Given the description of an element on the screen output the (x, y) to click on. 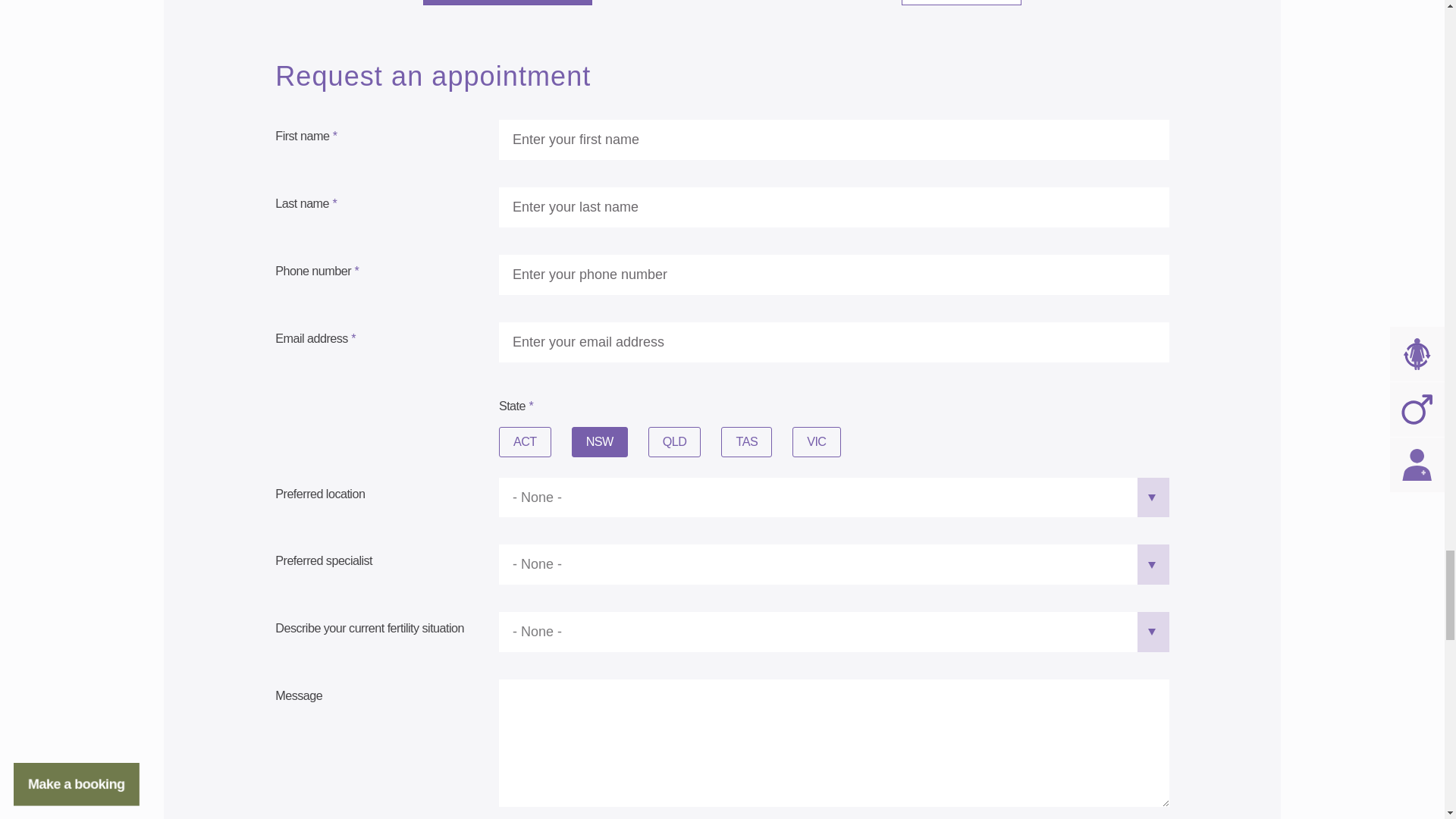
142 (732, 442)
141 (659, 442)
139 (583, 442)
140 (803, 442)
162 (510, 442)
